Given the description of an element on the screen output the (x, y) to click on. 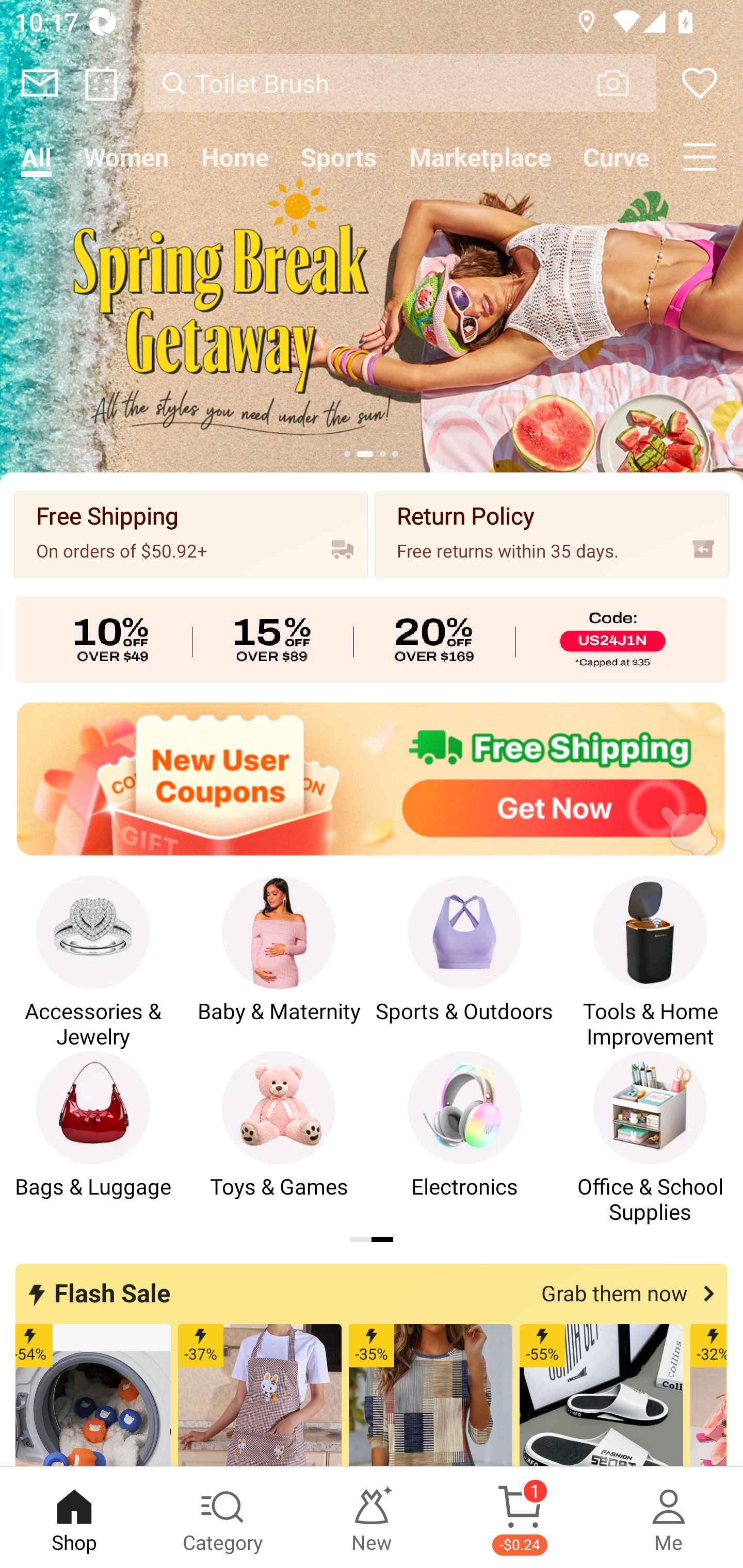
Wishlist (699, 82)
VISUAL SEARCH (623, 82)
All (36, 156)
Women (126, 156)
Home (234, 156)
Sports (338, 156)
Marketplace (479, 156)
Curve (611, 156)
Free Shipping On orders of $50.92+ (190, 534)
Return Policy Free returns within 35 days. (551, 534)
Accessories & Jewelry (92, 962)
Baby & Maternity (278, 962)
Sports & Outdoors (464, 962)
Tools & Home Improvement (650, 962)
Bags & Luggage (92, 1138)
Toys & Games (278, 1138)
Electronics (464, 1138)
Office & School Supplies (650, 1138)
Category (222, 1517)
New (371, 1517)
Cart 1 -$0.24 (519, 1517)
Me (668, 1517)
